Given the description of an element on the screen output the (x, y) to click on. 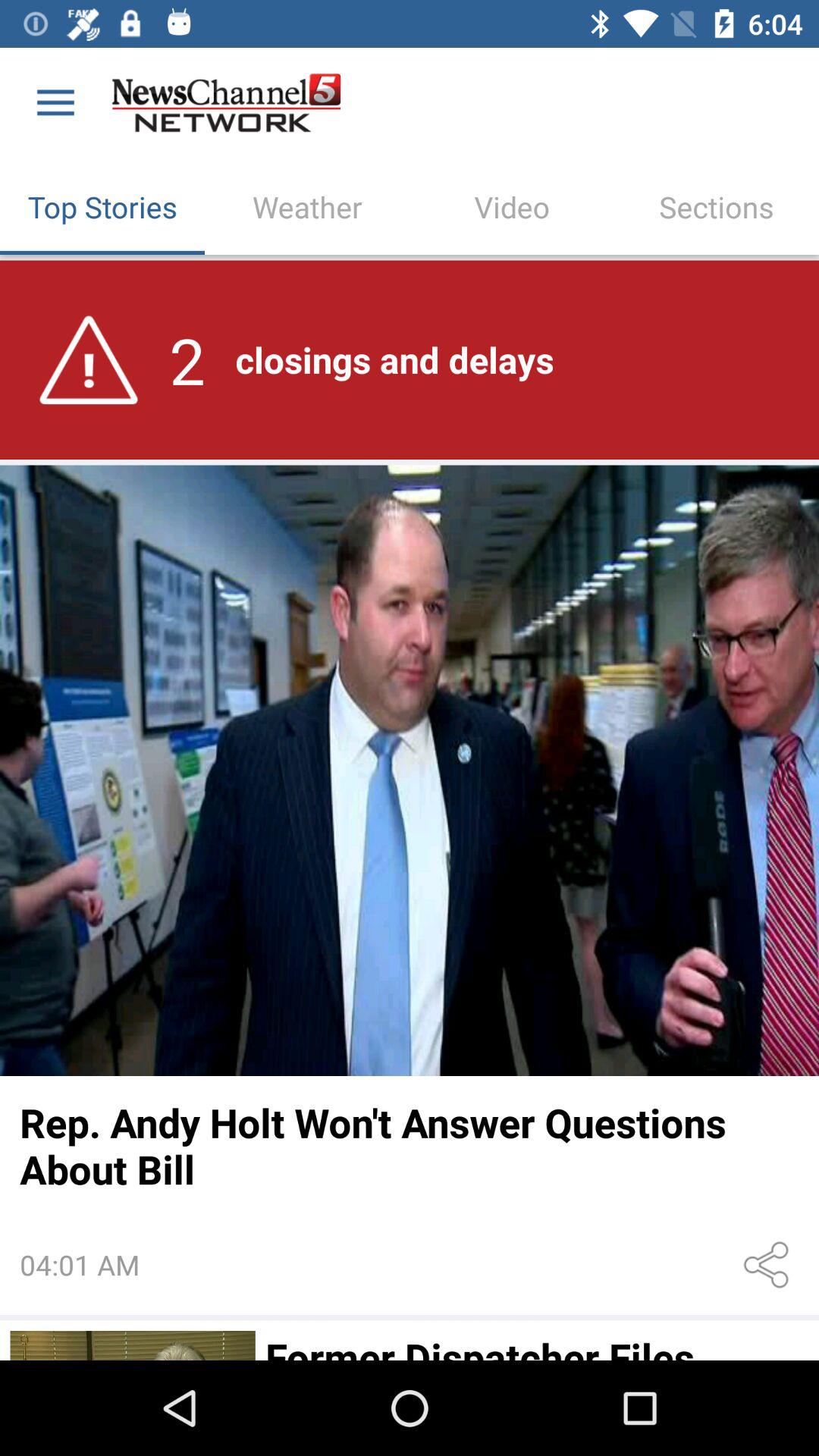
image of rep.andy holt (409, 770)
